Given the description of an element on the screen output the (x, y) to click on. 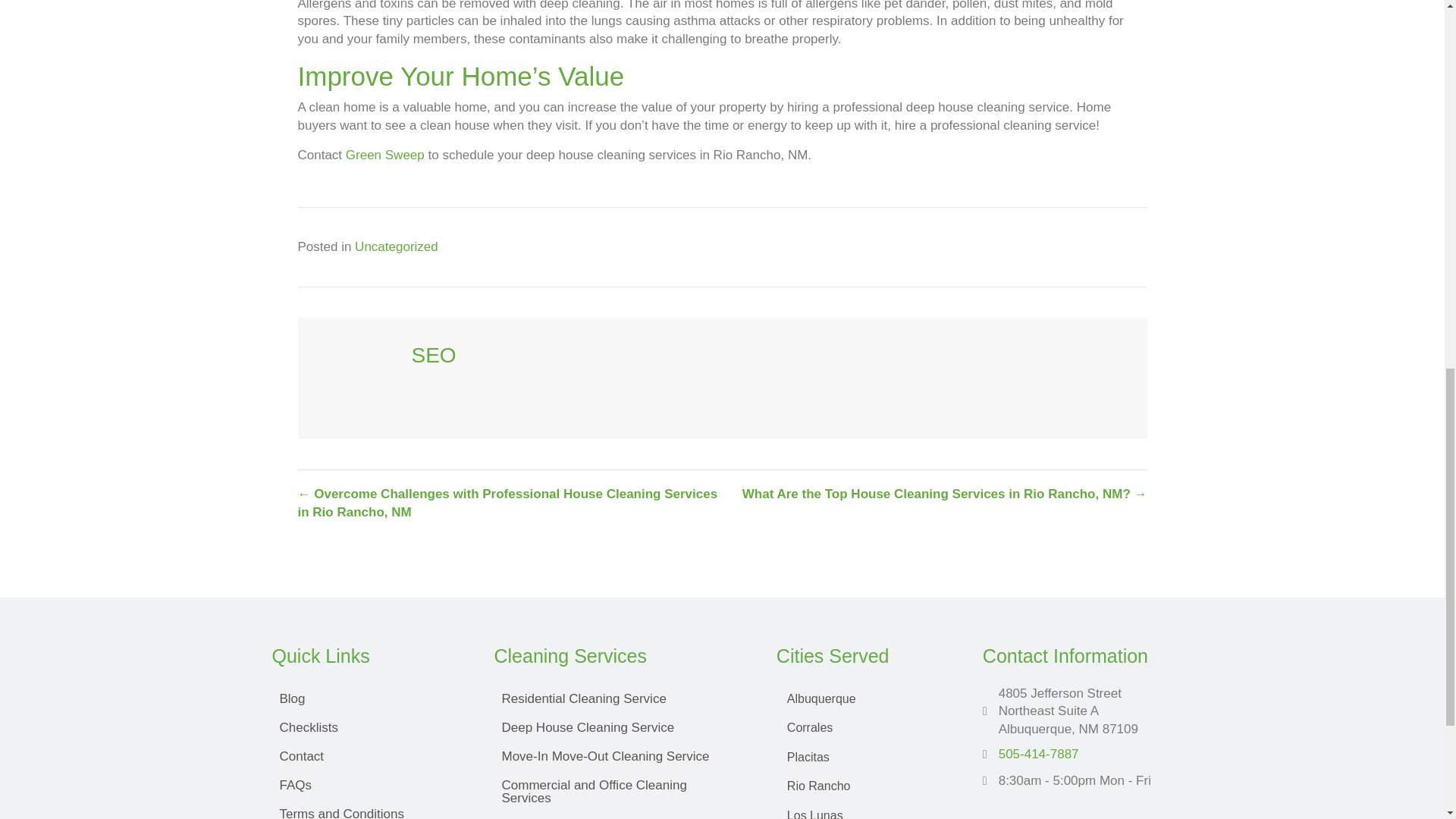
Uncategorized (396, 246)
Move-In Move-Out Cleaning Service (620, 756)
Checklists (366, 727)
Deep House Cleaning Service (620, 727)
Priority Cleaning Service (620, 816)
Residential Cleaning Service (620, 698)
Albuquerque (864, 698)
Commercial and Office Cleaning Services (620, 791)
Contact (366, 756)
Blog (366, 698)
